Given the description of an element on the screen output the (x, y) to click on. 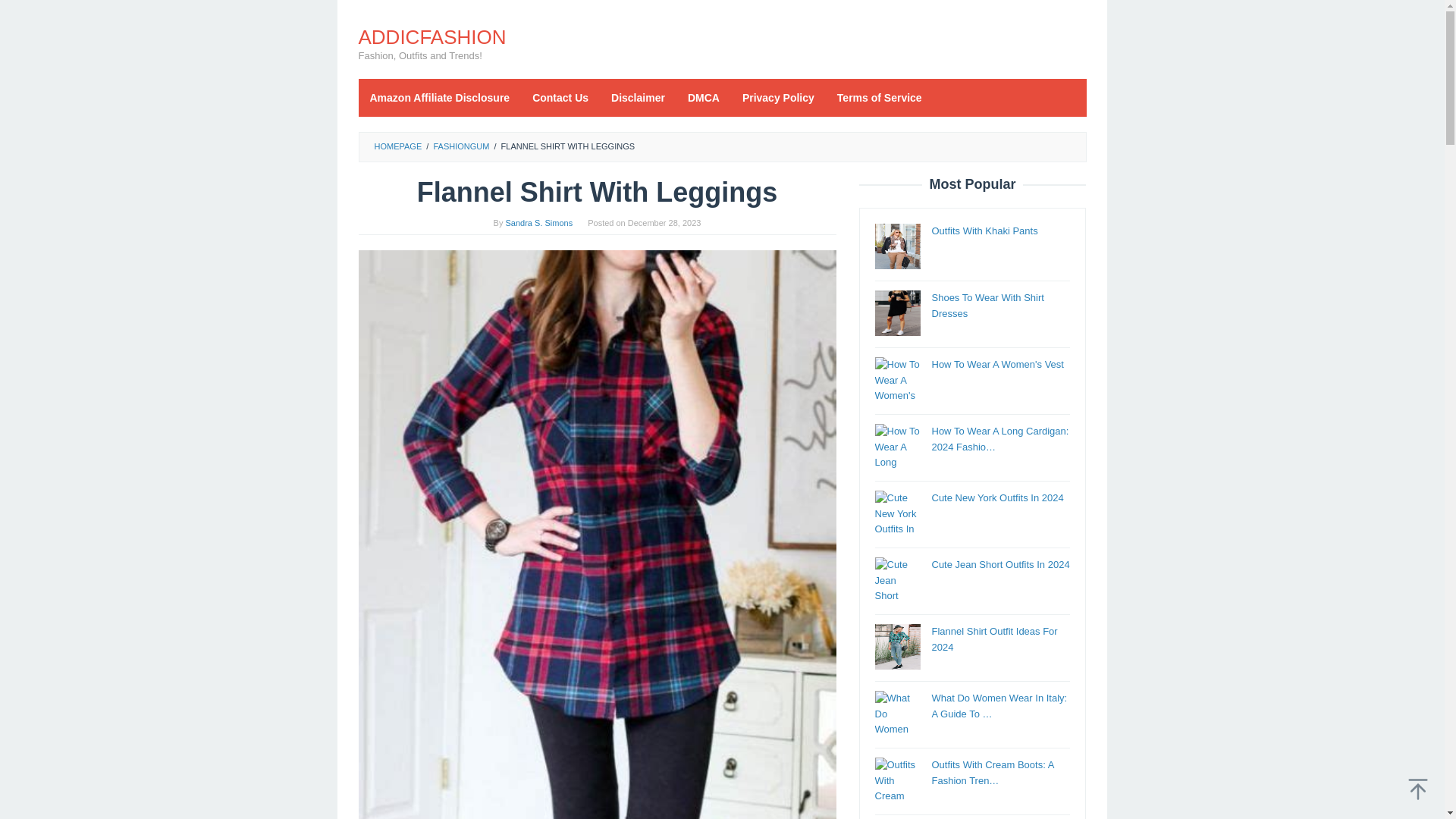
Outfits With Khaki Pants (983, 230)
ADDICFASHION (431, 36)
Shoes To Wear With Shirt Dresses (987, 305)
DMCA (703, 97)
Cute New York Outfits In 2024 (996, 497)
ADDICFASHION (431, 36)
FASHIONGUM (460, 145)
Permalink to: Sandra S. Simons (539, 222)
Contact Us (560, 97)
Cute Jean Short Outfits In 2024 (999, 564)
